Given the description of an element on the screen output the (x, y) to click on. 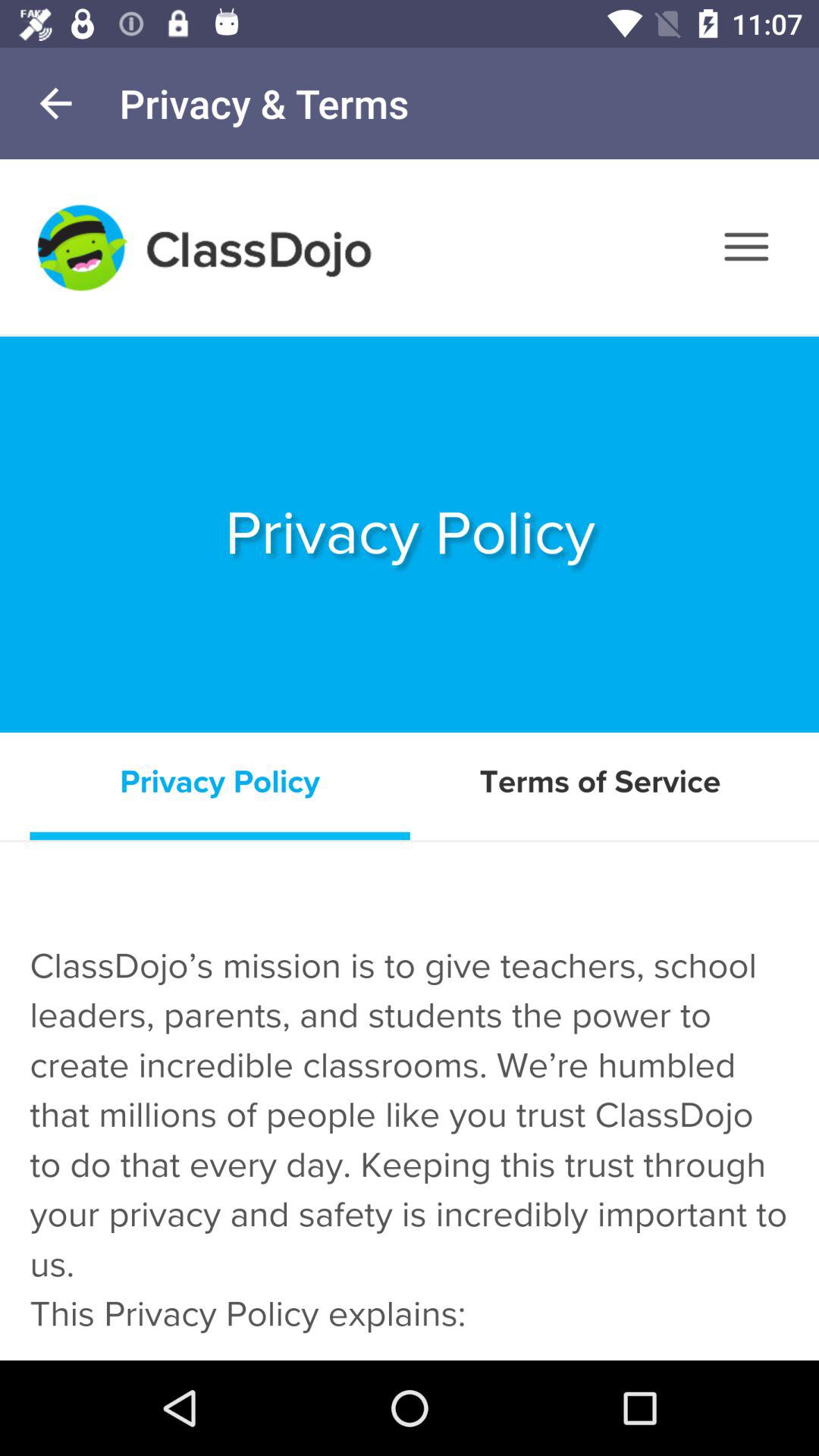
full page with multiple elements (409, 759)
